Given the description of an element on the screen output the (x, y) to click on. 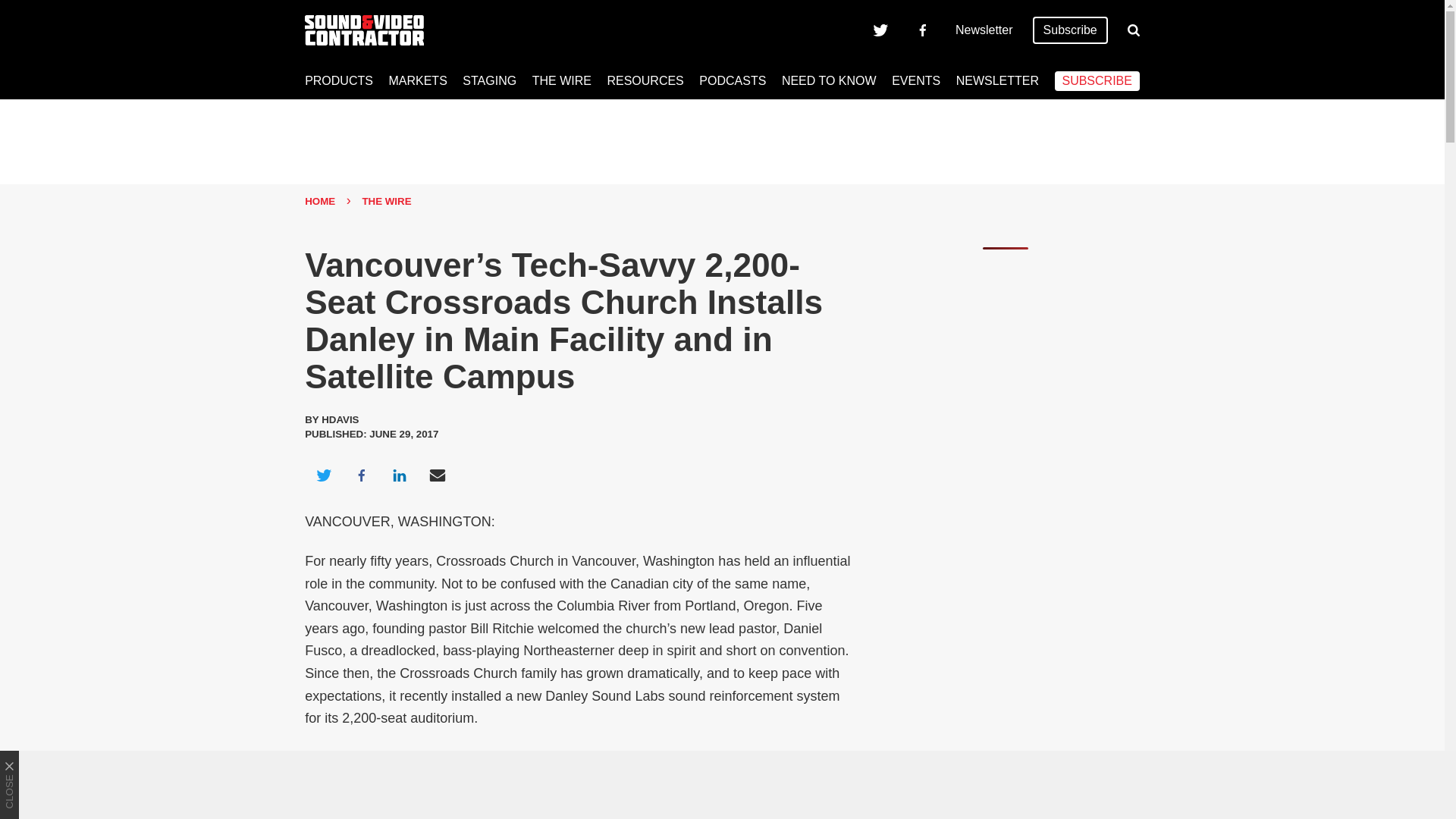
Share on LinkedIn (399, 475)
Share via Email (438, 475)
Share on Facebook (361, 475)
Share on Twitter (323, 475)
